Given the description of an element on the screen output the (x, y) to click on. 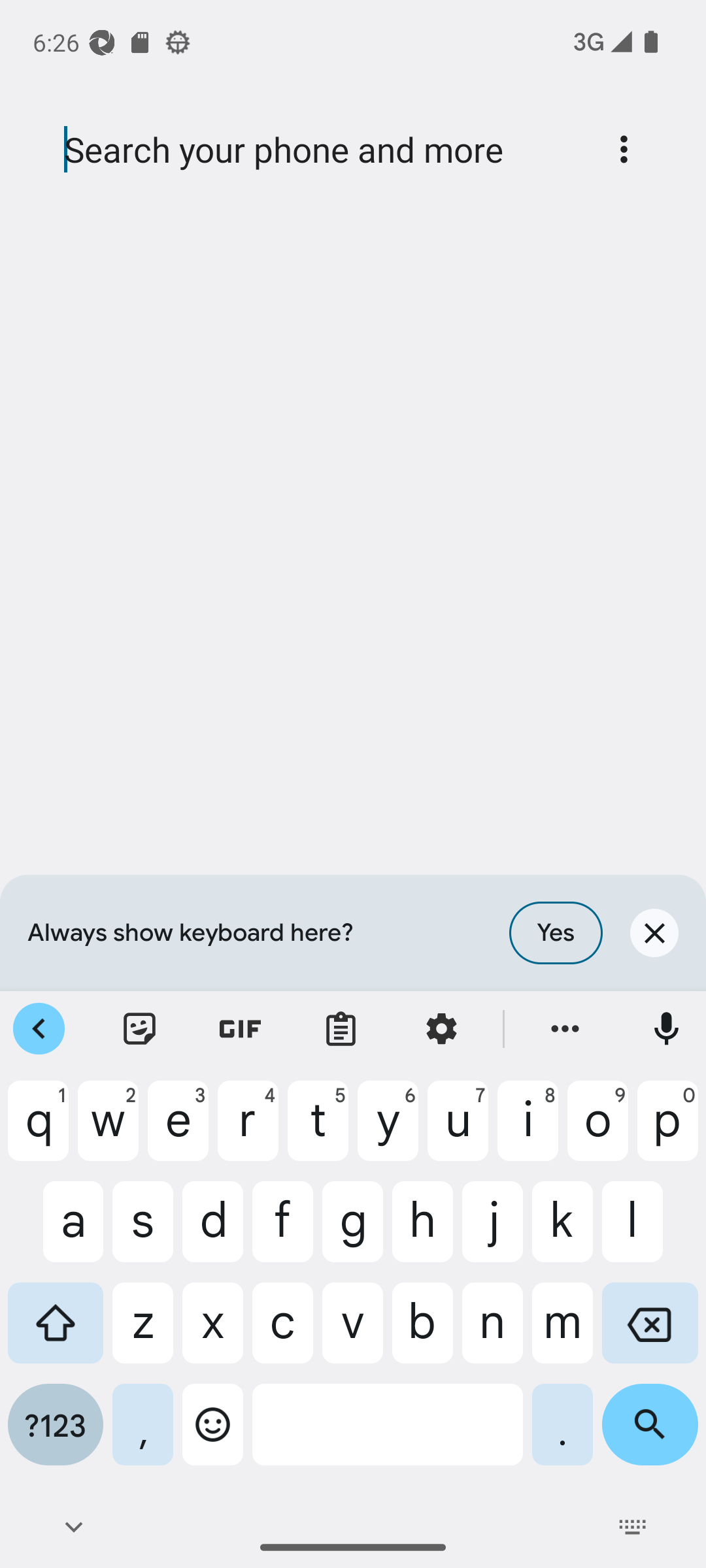
Yes (555, 932)
Dismiss (654, 932)
